Given the description of an element on the screen output the (x, y) to click on. 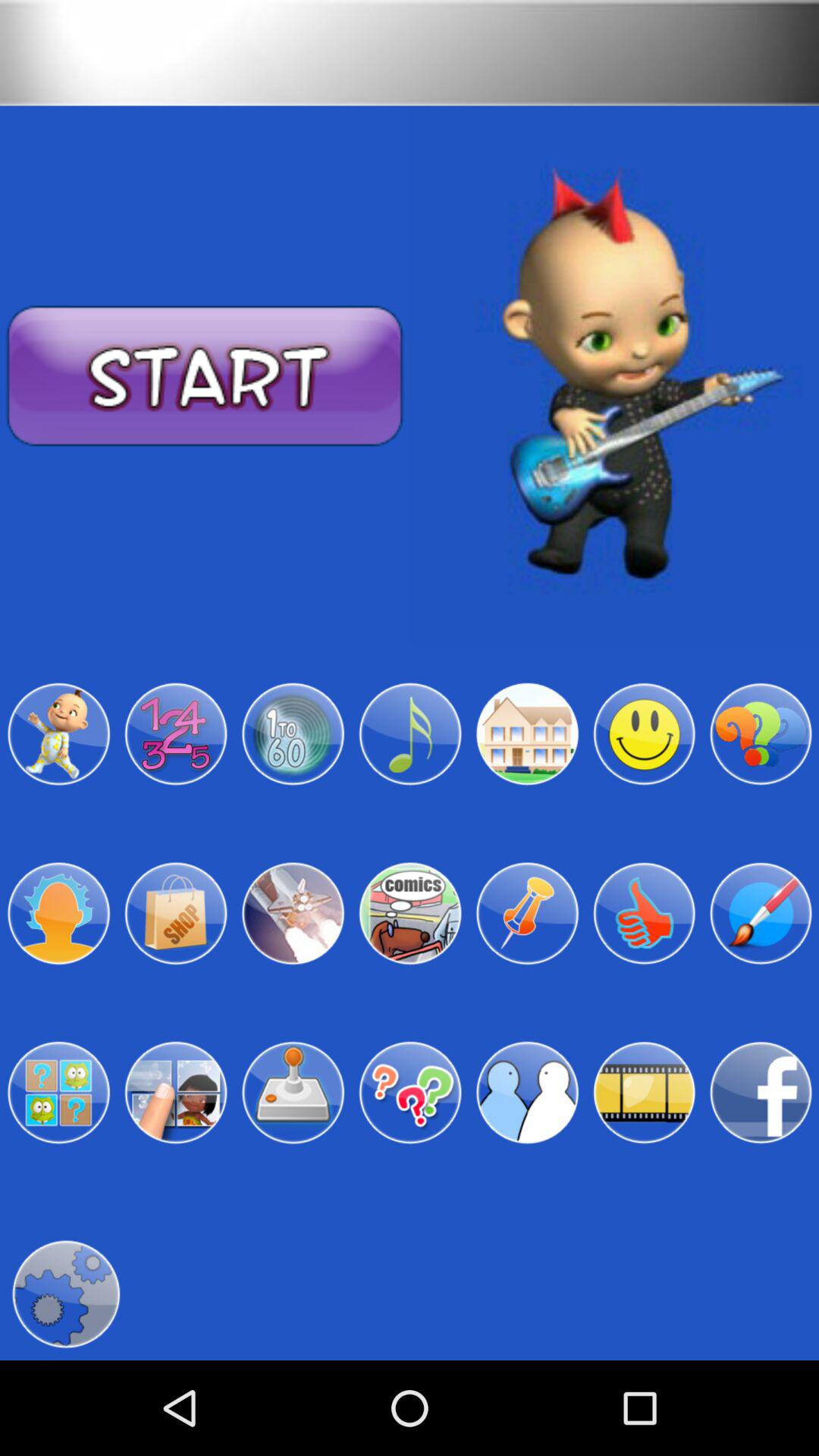
select 1-60 option (292, 734)
